Given the description of an element on the screen output the (x, y) to click on. 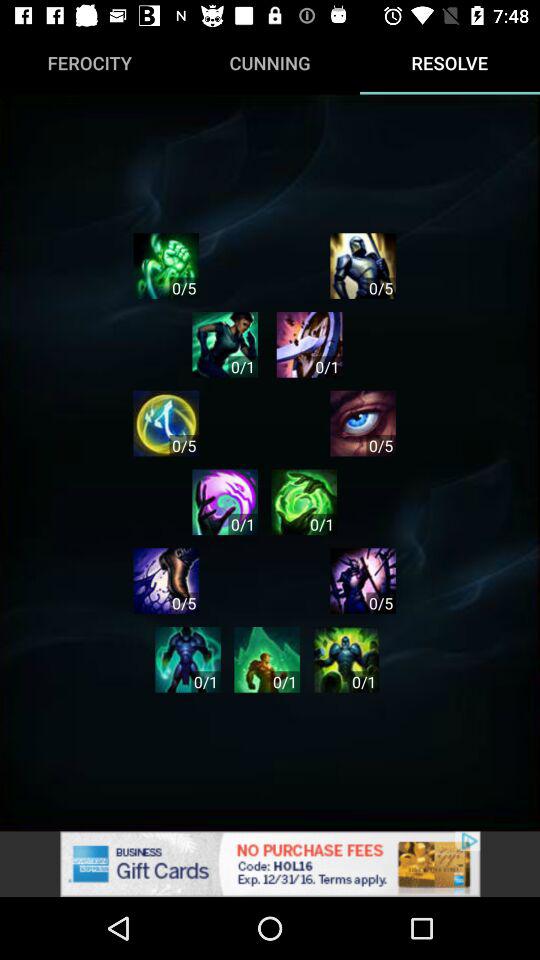
games (309, 344)
